Given the description of an element on the screen output the (x, y) to click on. 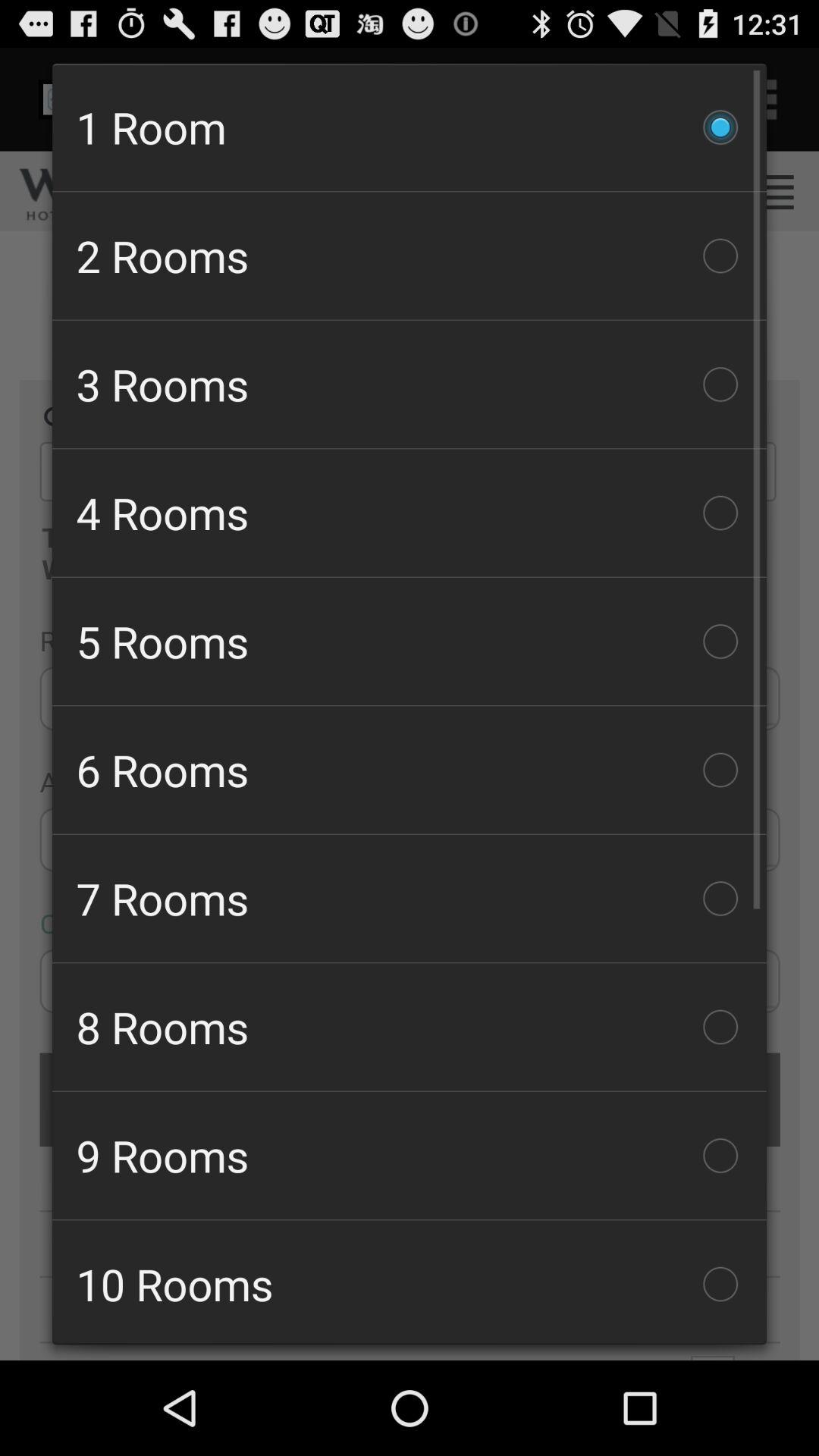
press checkbox above the 5 rooms checkbox (409, 512)
